Given the description of an element on the screen output the (x, y) to click on. 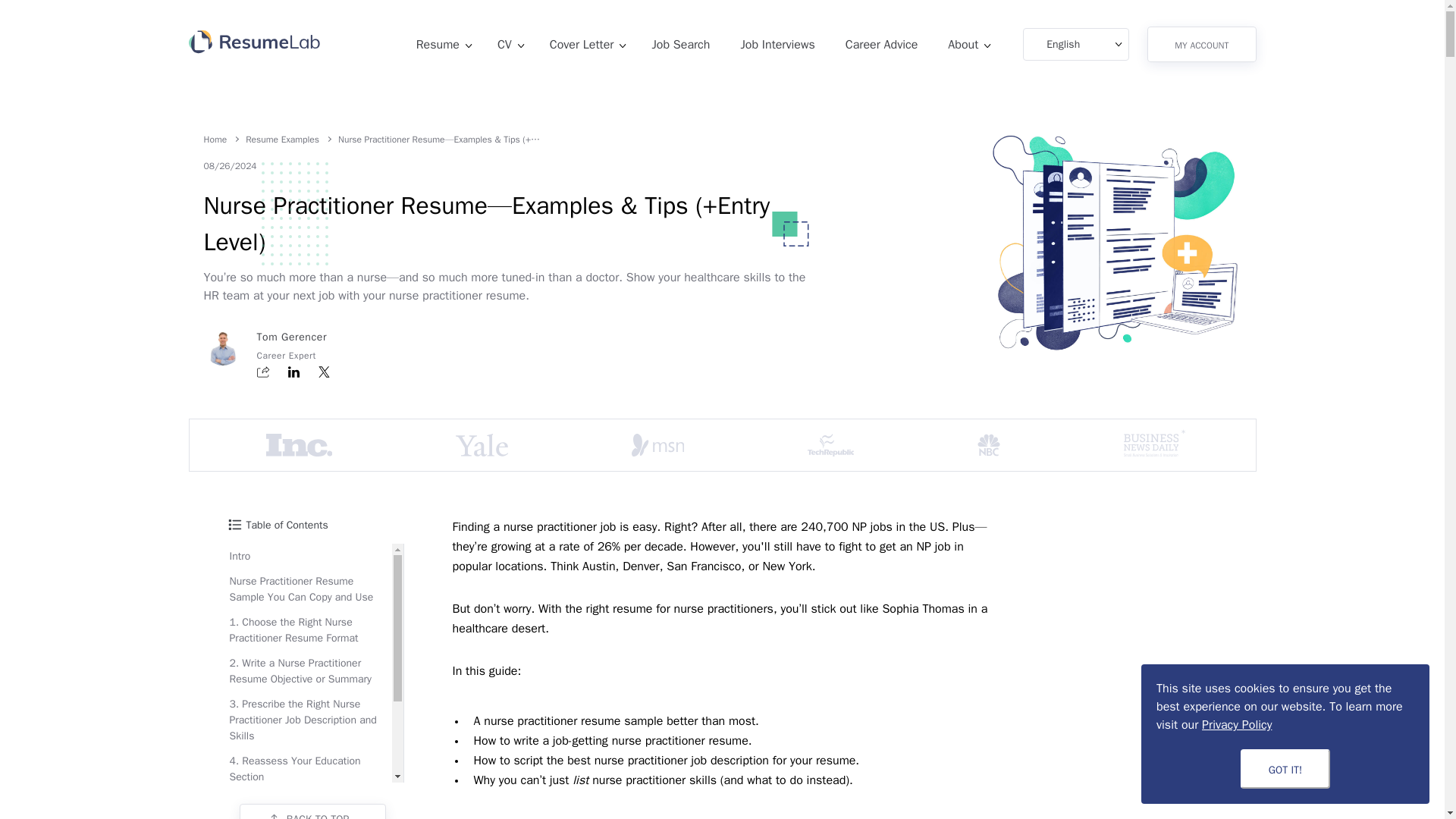
Tom Gerencer (291, 336)
Resume Examples (282, 139)
MY ACCOUNT (1201, 44)
ResumeLab - Home page (252, 43)
Job Search (684, 44)
Tom Gerencer (291, 336)
Career Advice (885, 44)
Job Interviews (780, 44)
BACK TO TOP (313, 811)
